Given the description of an element on the screen output the (x, y) to click on. 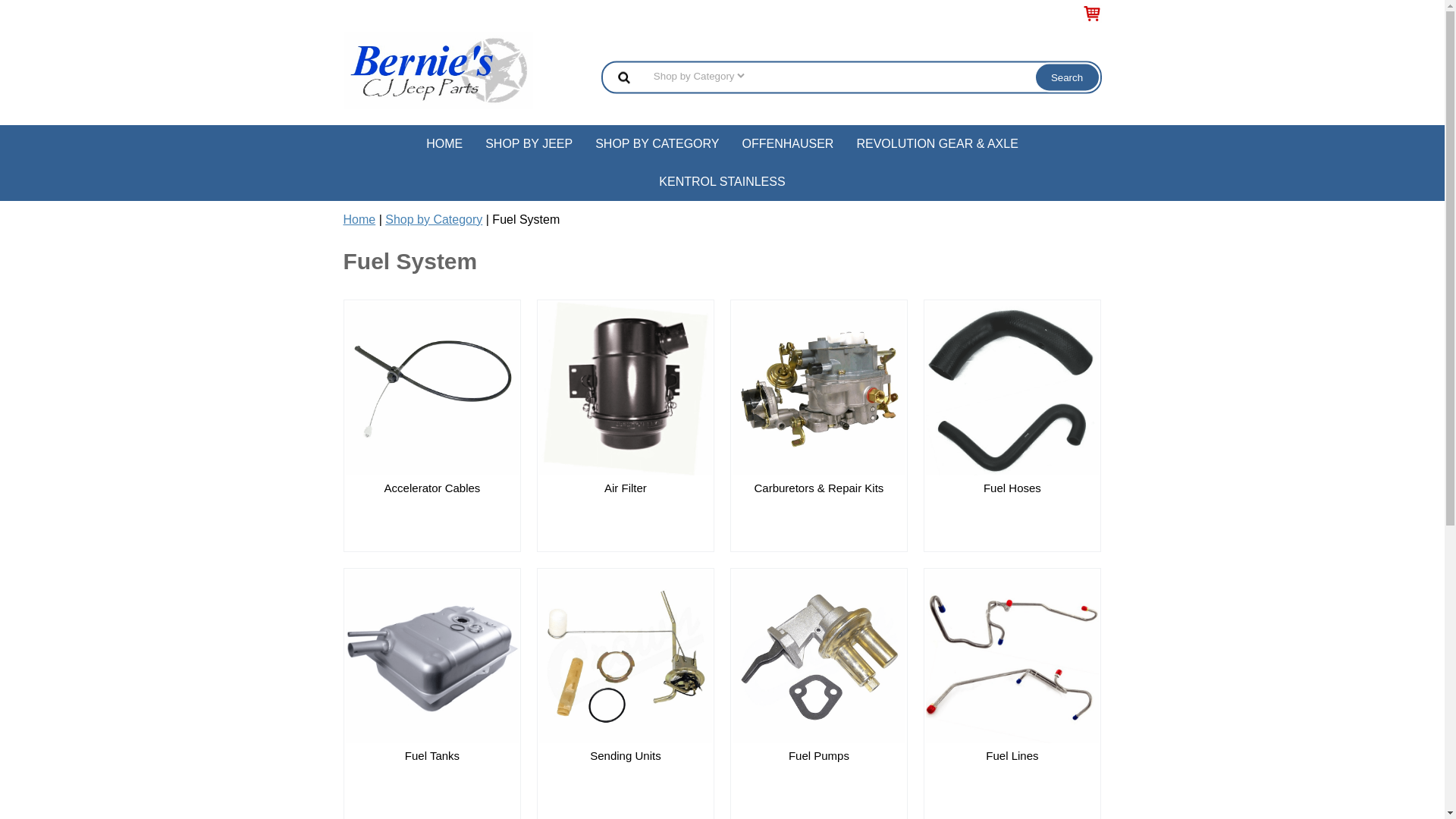
Fuel Hoses (1012, 488)
Fuel Tanks (432, 755)
Fuel Pumps (818, 755)
Search (1066, 76)
HOME (444, 143)
Search (1066, 76)
Sending Units (625, 755)
Fuel Lines (1012, 755)
Accelerator Cables (432, 488)
SHOP BY JEEP (528, 143)
SHOP BY CATEGORY (656, 143)
Air Filter (625, 488)
